Given the description of an element on the screen output the (x, y) to click on. 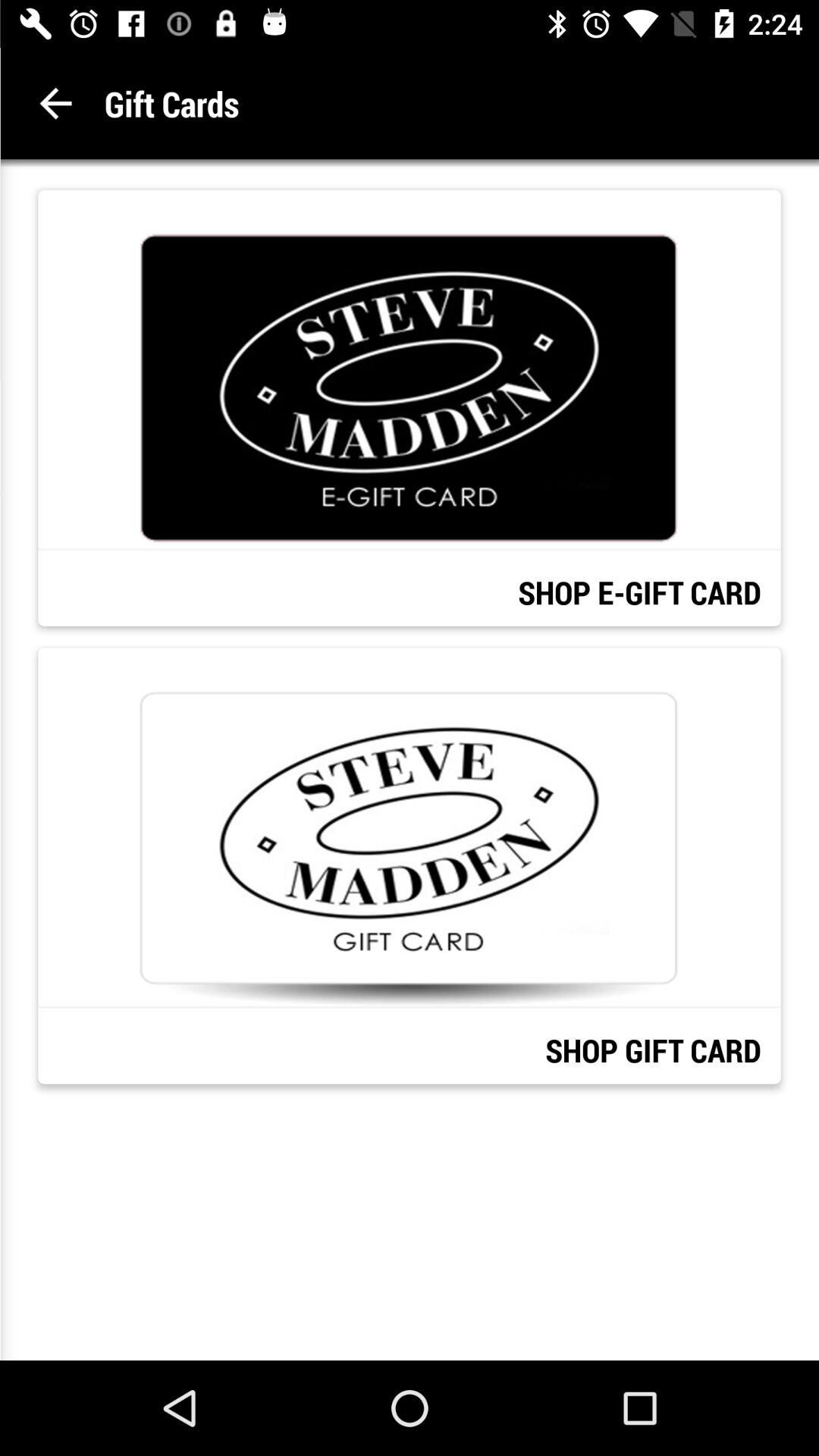
select icon next to gift cards item (55, 103)
